Given the description of an element on the screen output the (x, y) to click on. 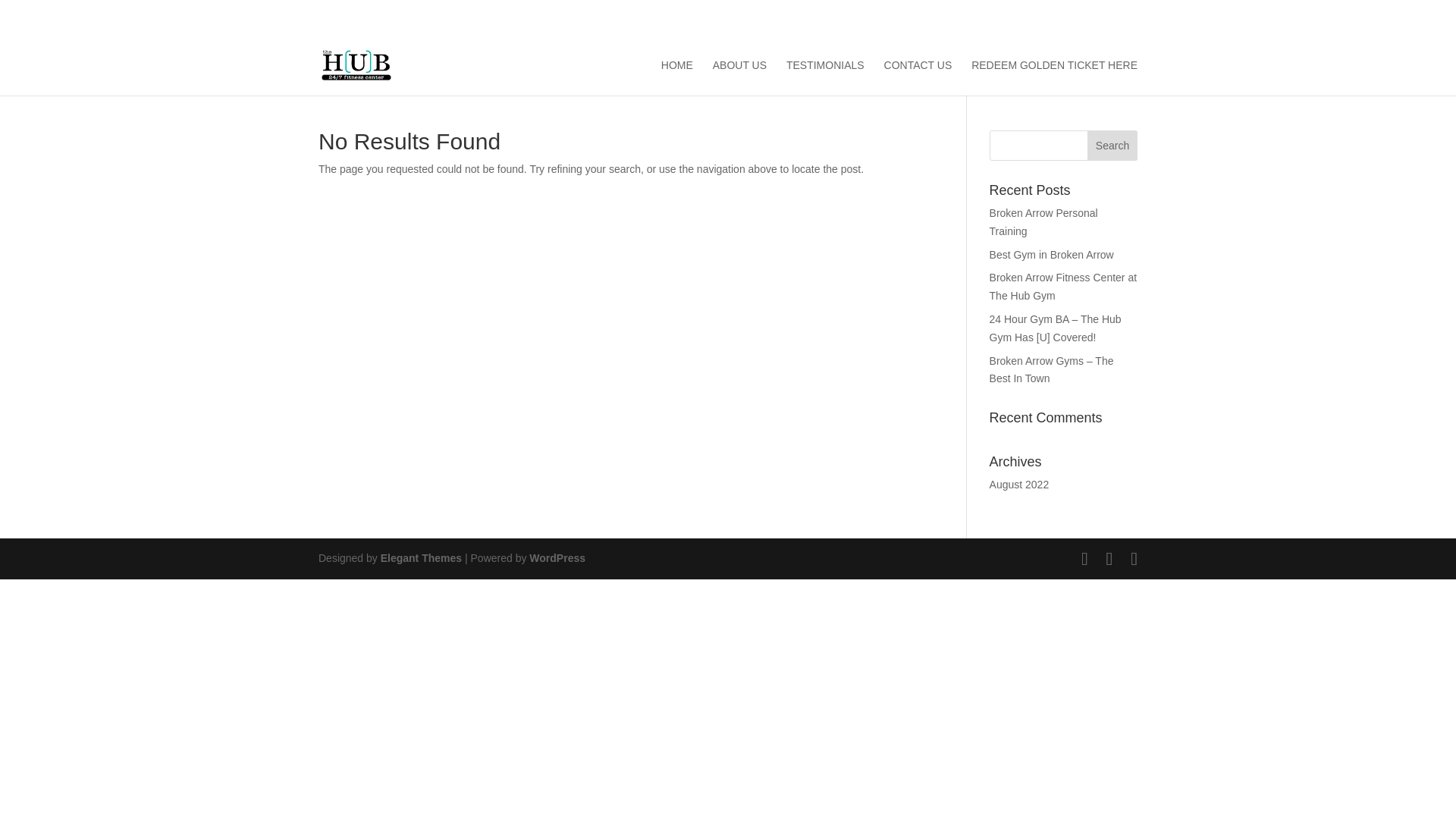
Broken Arrow Personal Training (1043, 222)
HOME (677, 77)
Elegant Themes (420, 558)
ABOUT US (740, 77)
Search (1112, 145)
Premium WordPress Themes (420, 558)
Best Gym in Broken Arrow (1051, 254)
REDEEM GOLDEN TICKET HERE (1054, 77)
August 2022 (1019, 484)
TESTIMONIALS (825, 77)
